Given the description of an element on the screen output the (x, y) to click on. 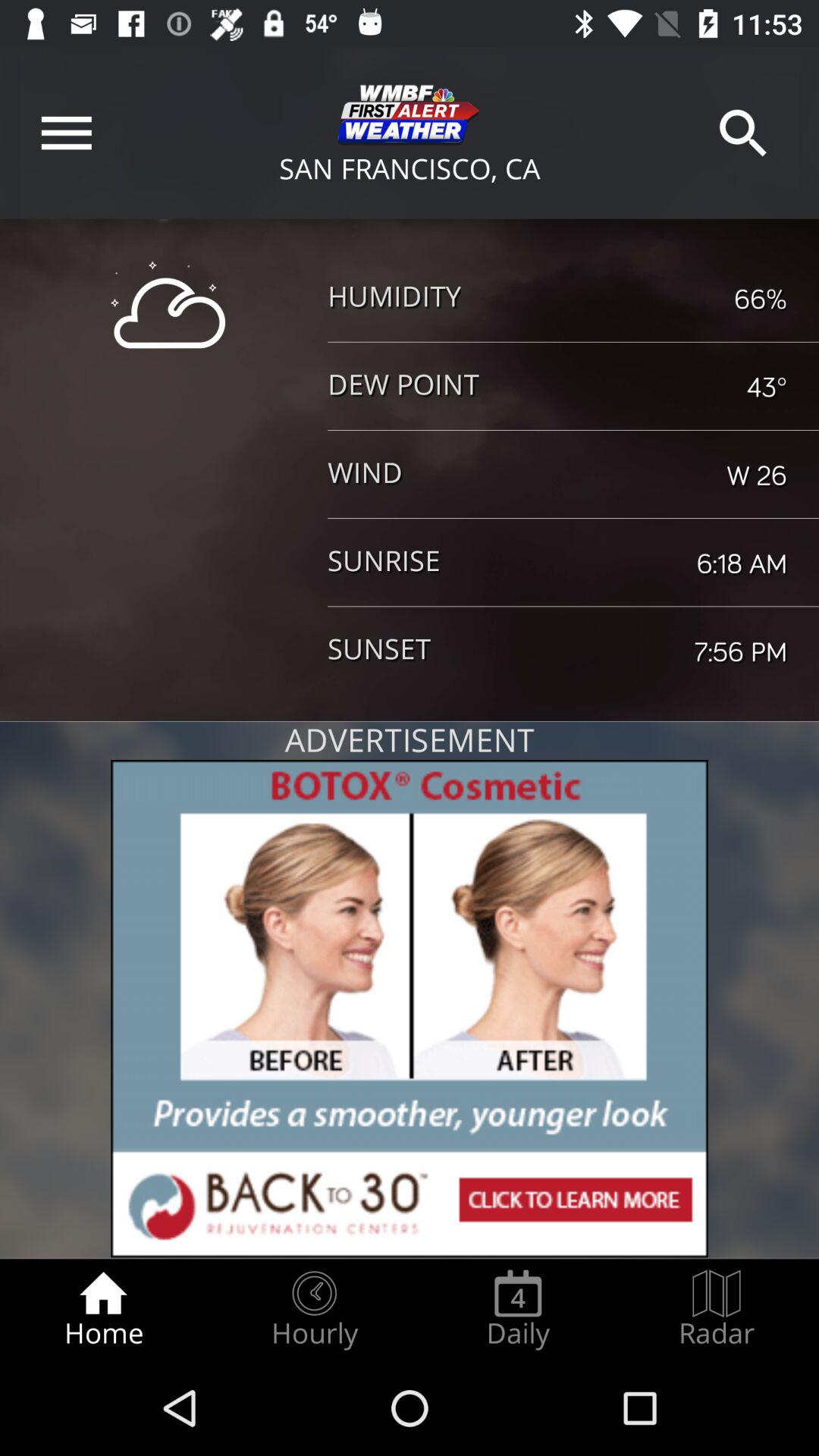
click the radar (716, 1309)
